Given the description of an element on the screen output the (x, y) to click on. 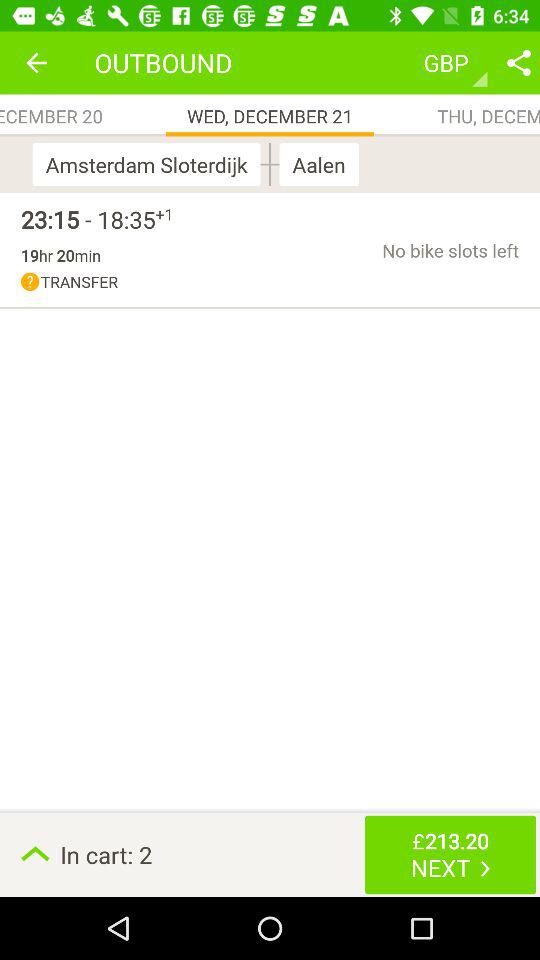
share button (519, 62)
